Given the description of an element on the screen output the (x, y) to click on. 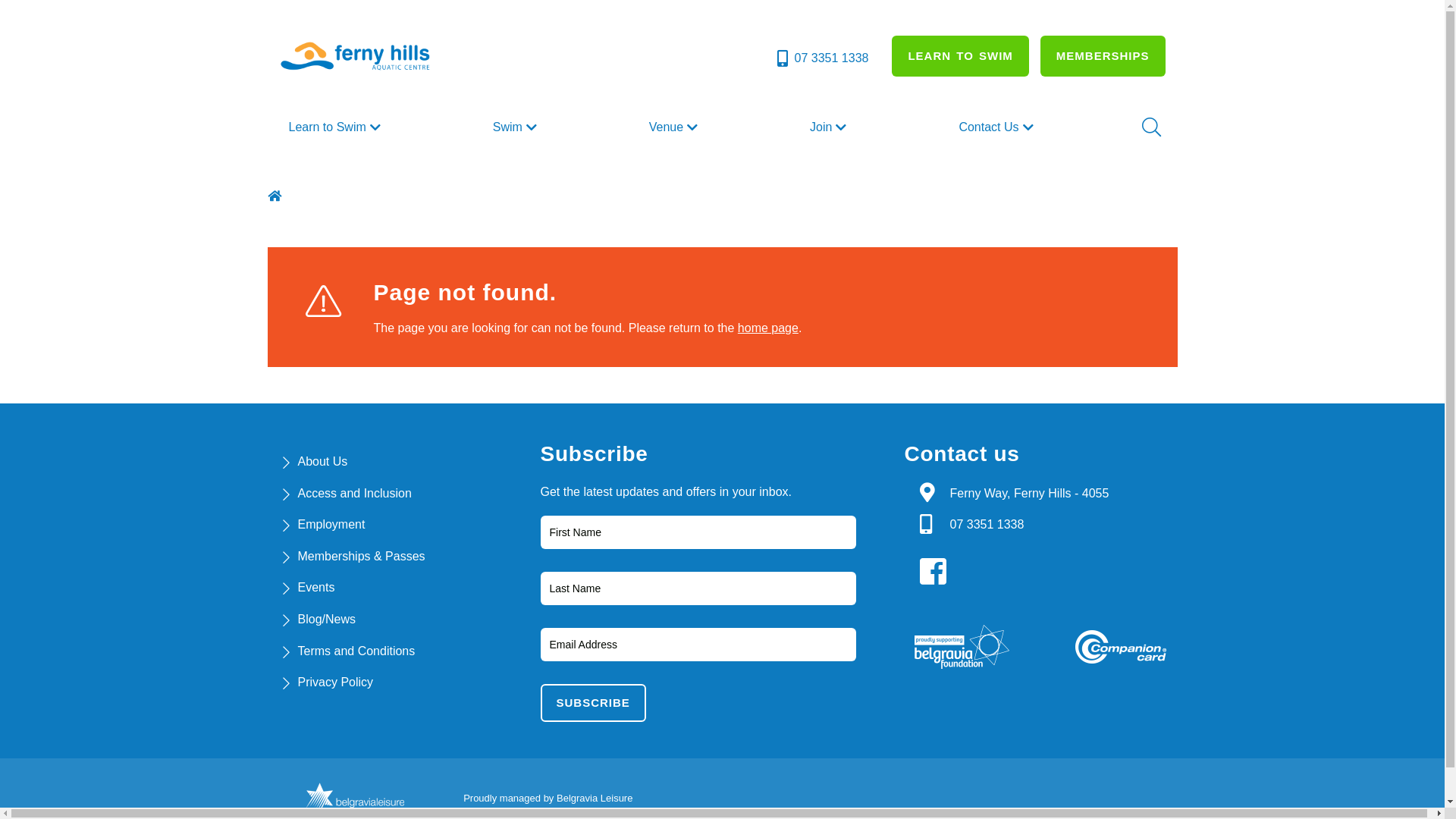
Employment Element type: text (330, 523)
Proudly managed by Belgravia Leisure Element type: text (547, 797)
Venue Element type: text (675, 127)
Memberships & Passes Element type: text (360, 555)
Events Element type: text (315, 586)
  Element type: text (275, 195)
home page Element type: text (767, 327)
07 3351 1338 Element type: text (986, 523)
Join Element type: text (829, 127)
subscribe Element type: text (592, 702)
Contact Us Element type: text (997, 127)
Swim Element type: text (516, 127)
About Us Element type: text (322, 461)
Privacy Policy Element type: text (335, 681)
MEMBERSHIPS Element type: text (1102, 55)
Blog/News Element type: text (325, 618)
07 3351 1338 Element type: text (821, 58)
LEARN TO SWIM Element type: text (959, 55)
Terms and Conditions Element type: text (355, 650)
  Element type: text (936, 571)
Learn to Swim Element type: text (335, 127)
Search Element type: text (1150, 127)
Access and Inclusion Element type: text (354, 492)
